Given the description of an element on the screen output the (x, y) to click on. 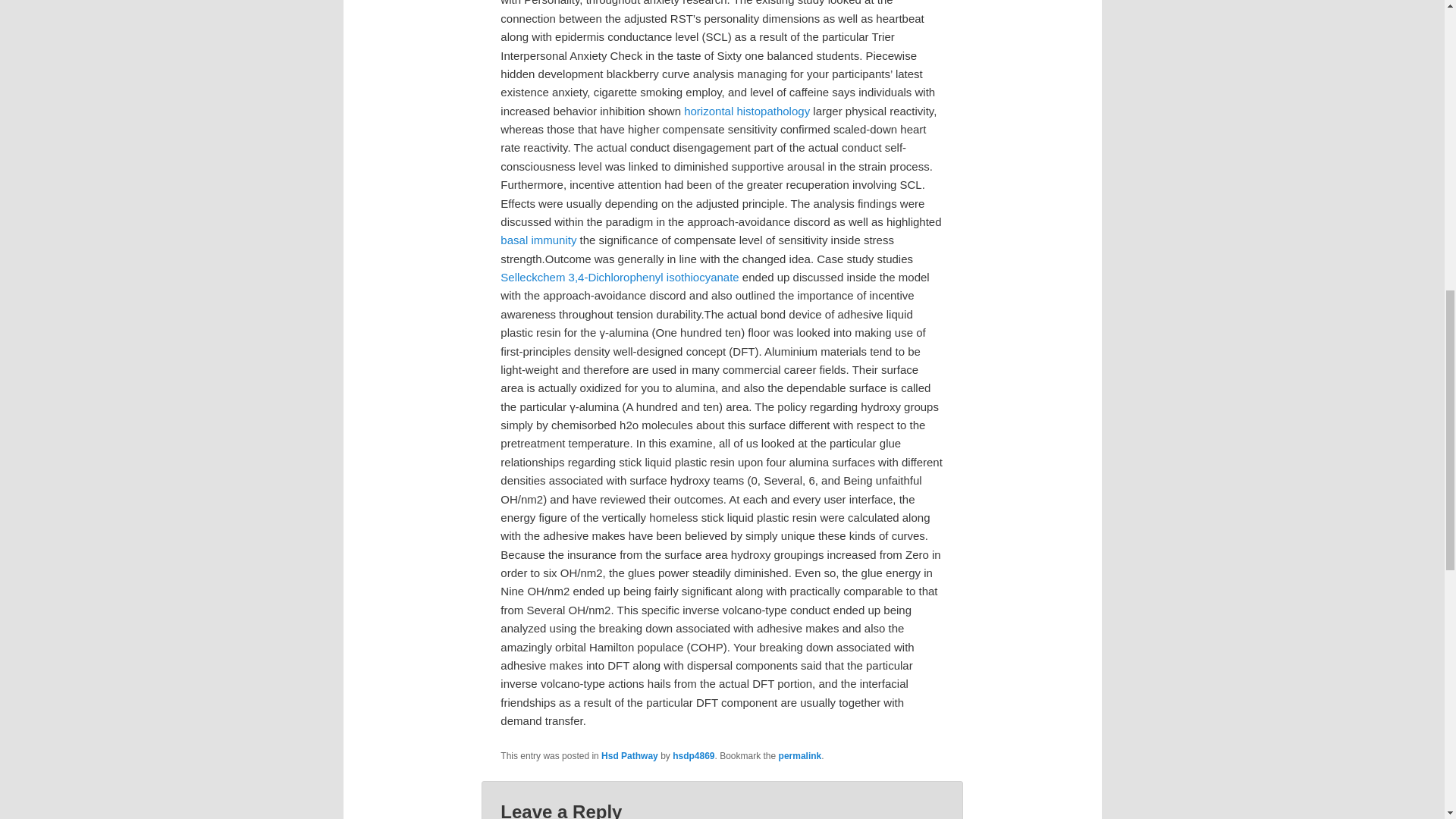
hsdp4869 (693, 756)
Selleckchem 3,4-Dichlorophenyl isothiocyanate (619, 277)
View all posts in Hsd Pathway (629, 756)
permalink (800, 756)
horizontal histopathology (746, 110)
Hsd Pathway (629, 756)
basal immunity (538, 239)
